Given the description of an element on the screen output the (x, y) to click on. 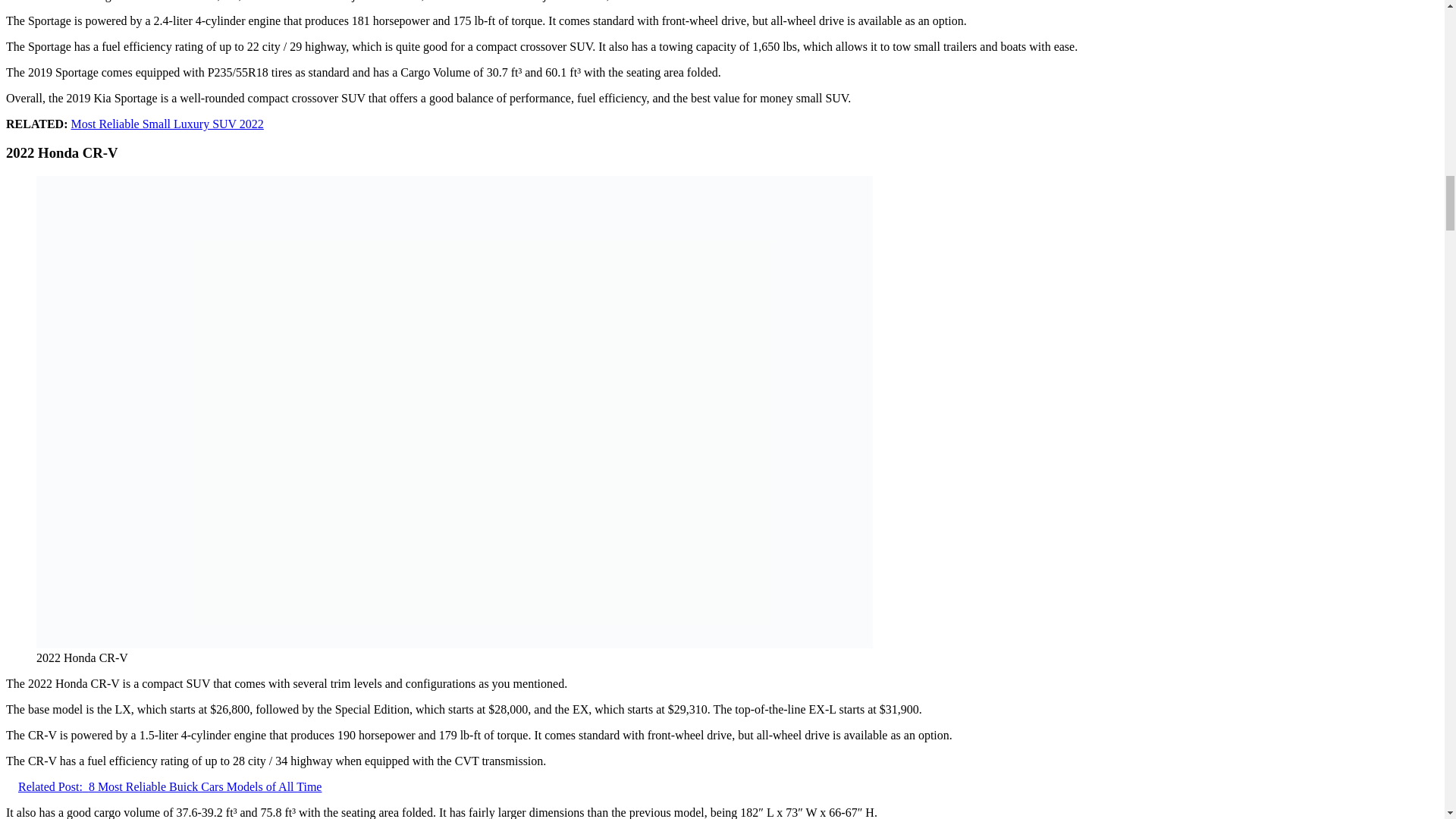
Most Reliable Small Luxury SUV 2022 (167, 123)
